Given the description of an element on the screen output the (x, y) to click on. 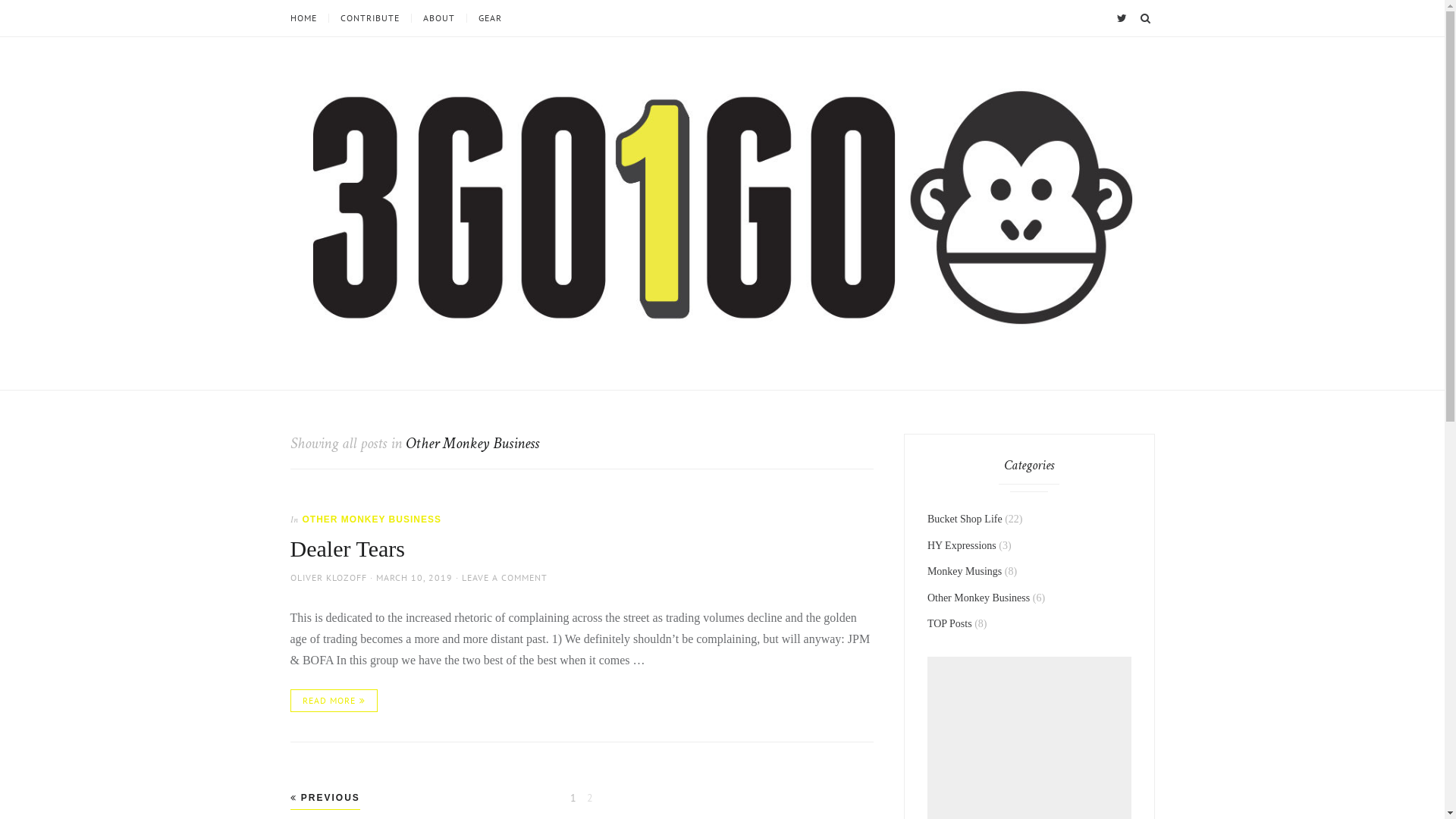
OLIVER KLOZOFF Element type: text (327, 577)
Bucket Shop Life Element type: text (964, 518)
3Go1Go Securities Element type: text (343, 365)
Twitter Element type: text (1121, 17)
READ MORE Element type: text (332, 700)
Other Monkey Business Element type: text (978, 597)
ABOUT Element type: text (438, 17)
GEAR Element type: text (488, 17)
CONTRIBUTE Element type: text (368, 17)
SEARCH Element type: text (1144, 17)
Monkey Musings Element type: text (964, 571)
MARCH 10, 2019 Element type: text (414, 577)
HY Expressions Element type: text (961, 545)
TOP Posts Element type: text (949, 623)
HOME Element type: text (308, 17)
Page
1 Element type: text (572, 797)
PREVIOUS Element type: text (324, 797)
OTHER MONKEY BUSINESS Element type: text (370, 519)
LEAVE A COMMENT Element type: text (503, 577)
Dealer Tears Element type: text (346, 548)
